Given the description of an element on the screen output the (x, y) to click on. 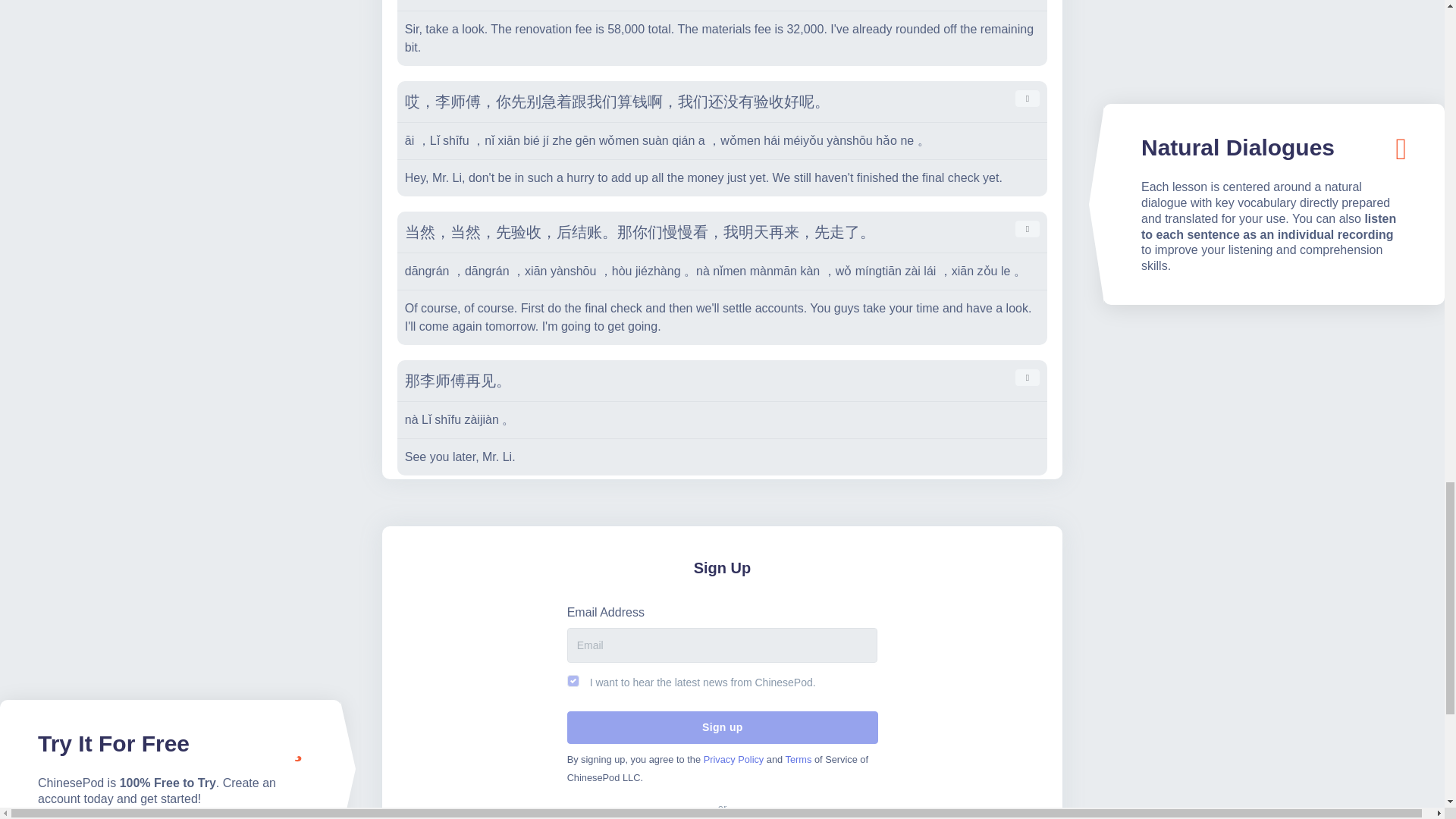
Sign up (722, 727)
Privacy Policy (733, 758)
Terms (799, 758)
